Given the description of an element on the screen output the (x, y) to click on. 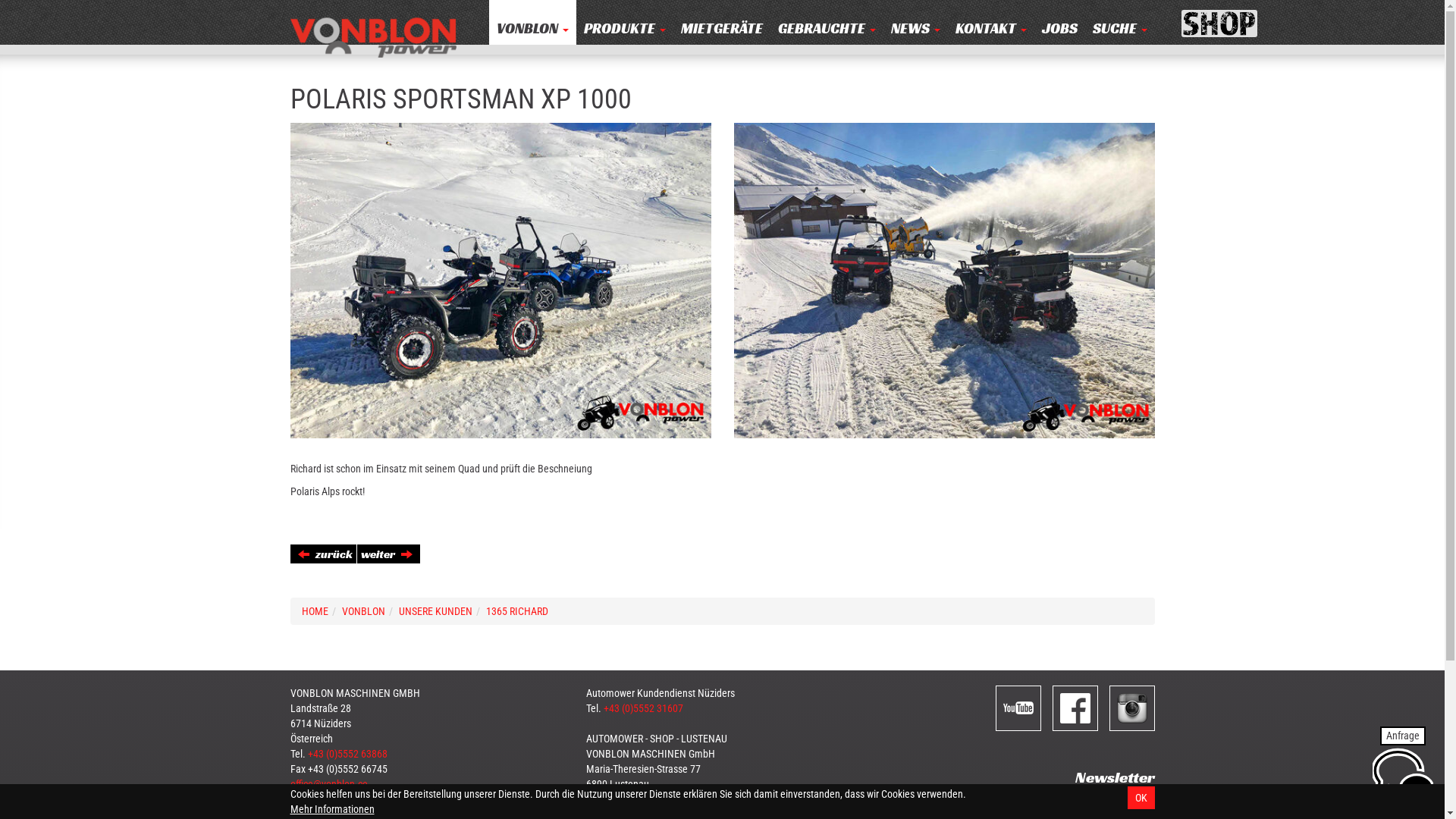
OK Element type: text (1140, 797)
GEBRAUCHTE  Element type: text (826, 22)
PRODUKTE  Element type: text (624, 22)
VONBLON  Element type: text (531, 22)
KONTAKT  Element type: text (990, 22)
Vonblon auf Facebook Element type: text (1075, 708)
+43 (0)5552 63868 Element type: text (347, 753)
NEWS  Element type: text (914, 22)
office@vonblon.cc Element type: text (327, 784)
+43 (0)5552 31607 Element type: text (643, 708)
Vonblon auf YouTube Element type: text (1018, 708)
1365 RICHARD Element type: text (516, 611)
JOBS Element type: text (1059, 22)
+43 (0)676 7809674 Element type: text (645, 799)
VONBLON Element type: text (362, 611)
weiter Element type: text (387, 553)
SUCHE Element type: text (1119, 22)
UNSERE KUNDEN Element type: text (435, 611)
Mehr Informationen Element type: text (331, 809)
Vonblon auf Instagram Element type: text (1132, 708)
HOME Element type: text (314, 611)
